Given the description of an element on the screen output the (x, y) to click on. 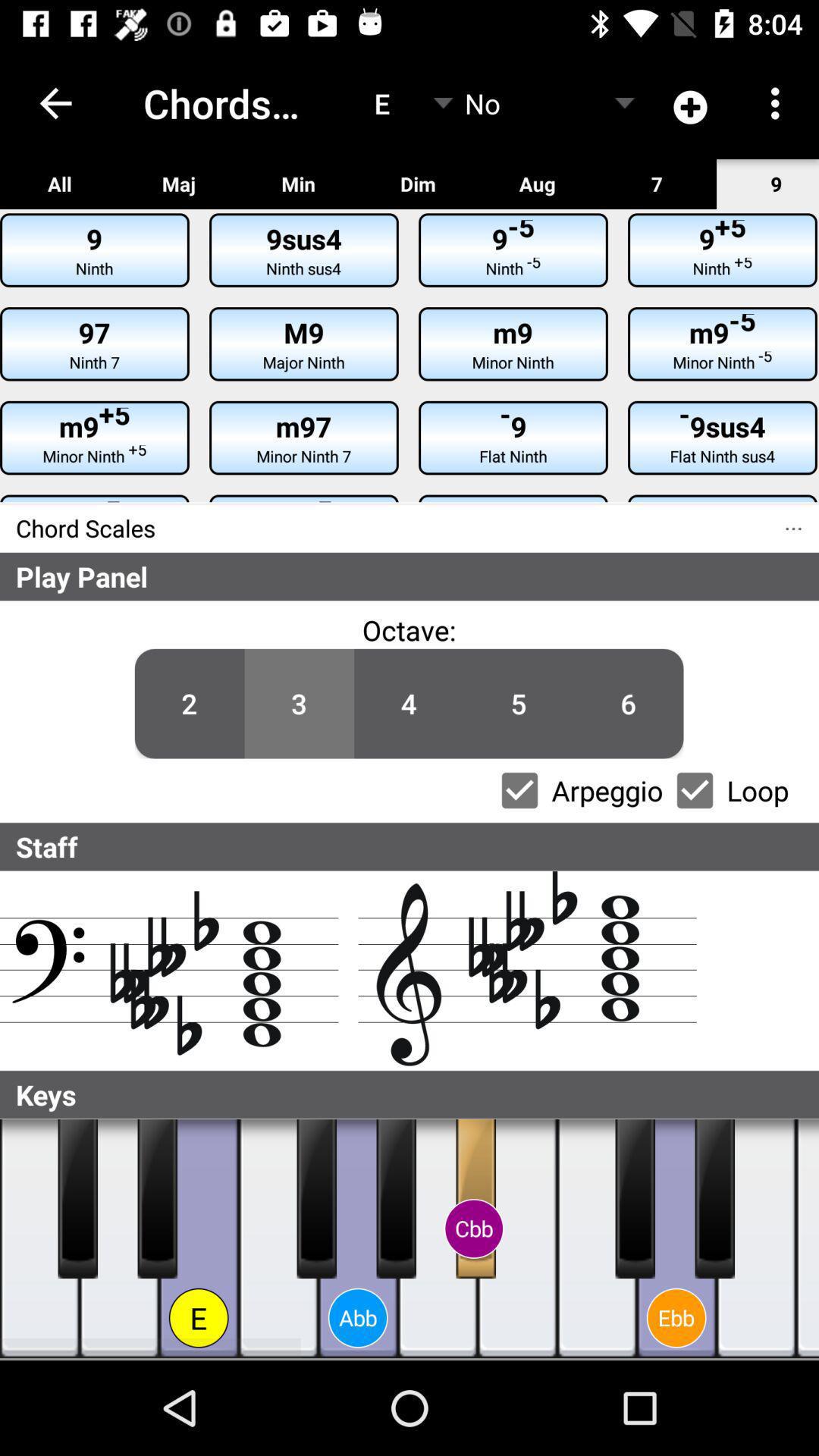
loop checkbox (694, 790)
